Given the description of an element on the screen output the (x, y) to click on. 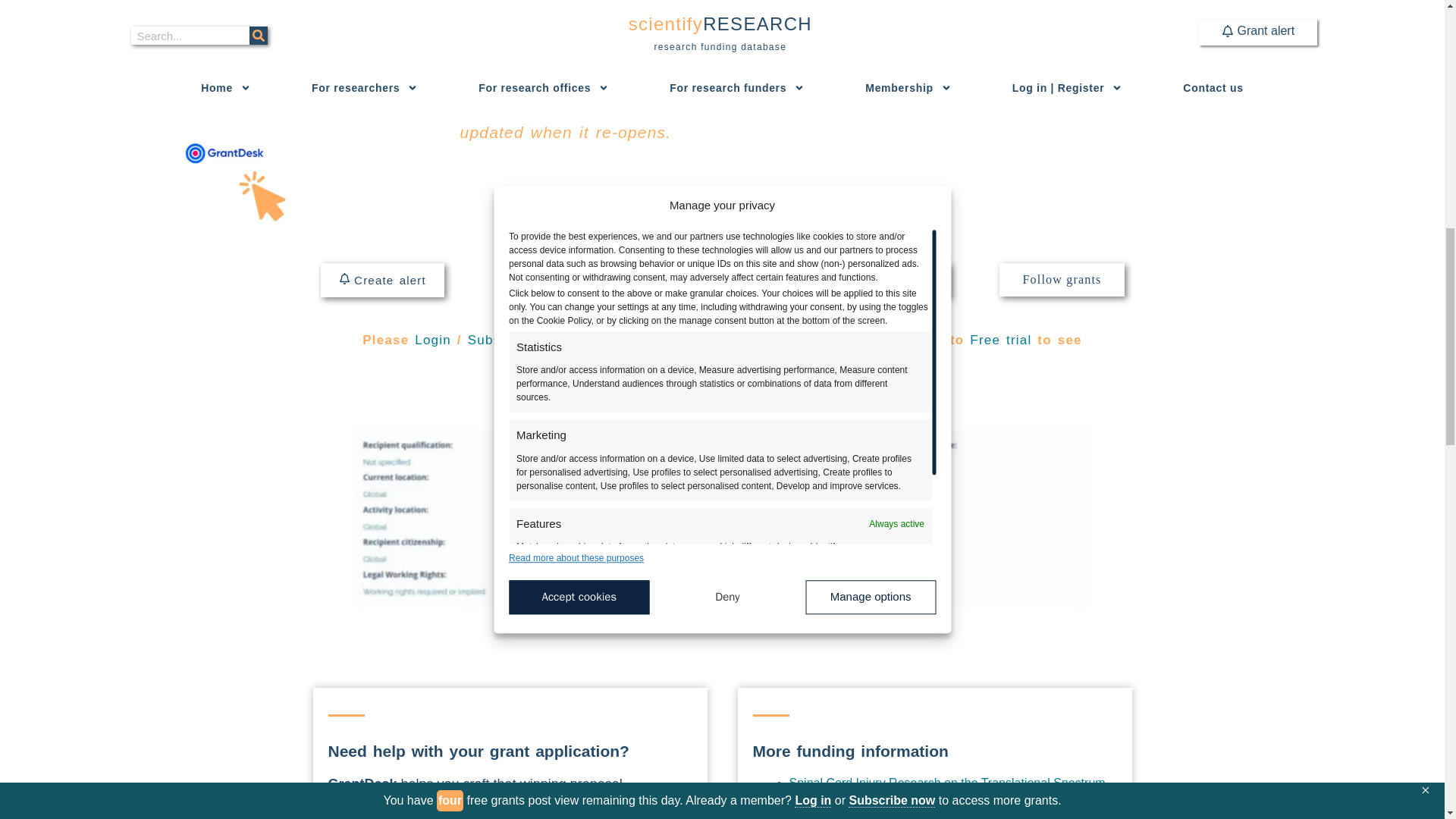
Scroll back to top (1406, 720)
